Given the description of an element on the screen output the (x, y) to click on. 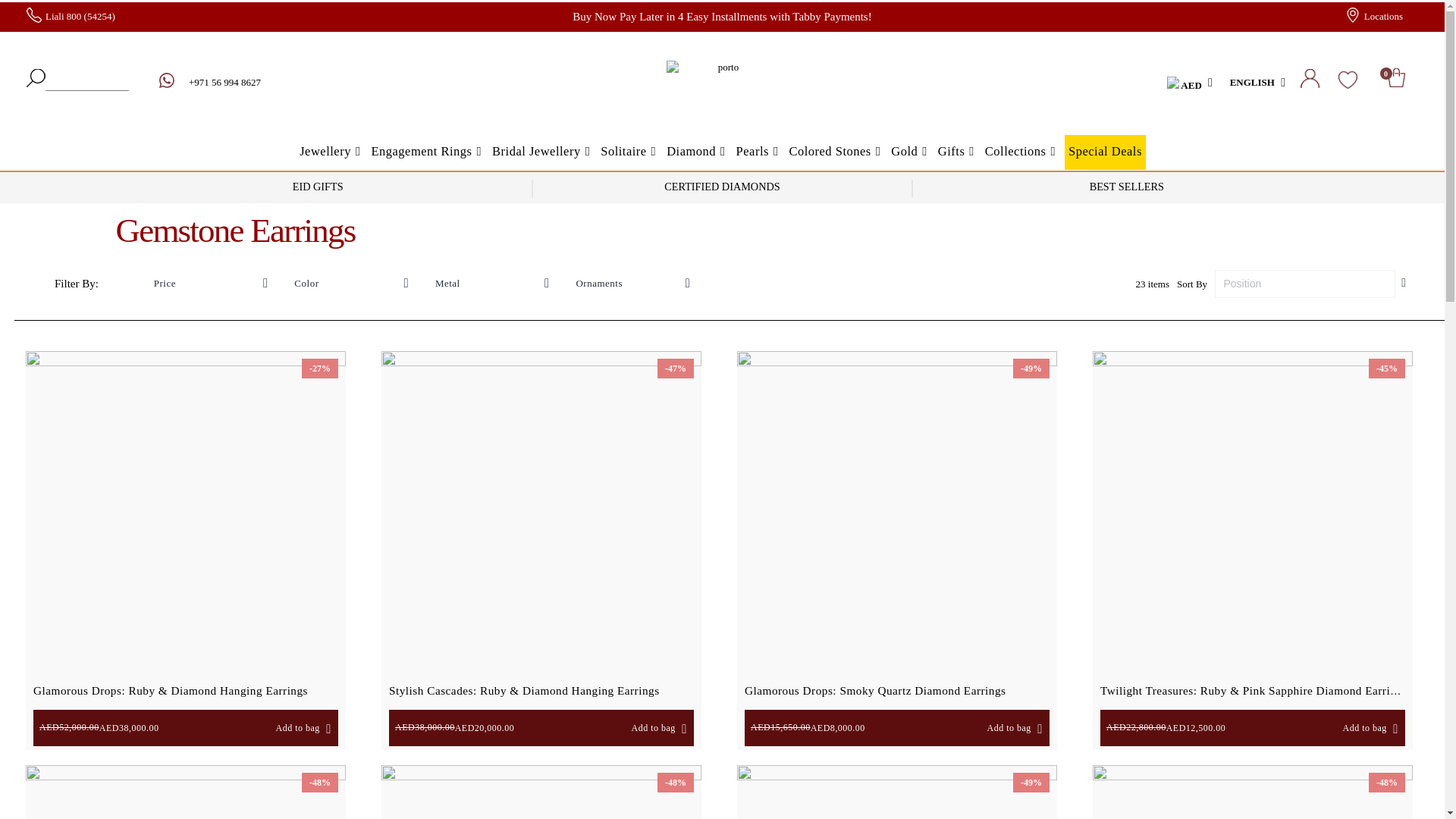
Locations (1374, 16)
porto (721, 83)
Engagement Rings (425, 151)
Jewellery (1402, 82)
Jewellery (329, 151)
